Given the description of an element on the screen output the (x, y) to click on. 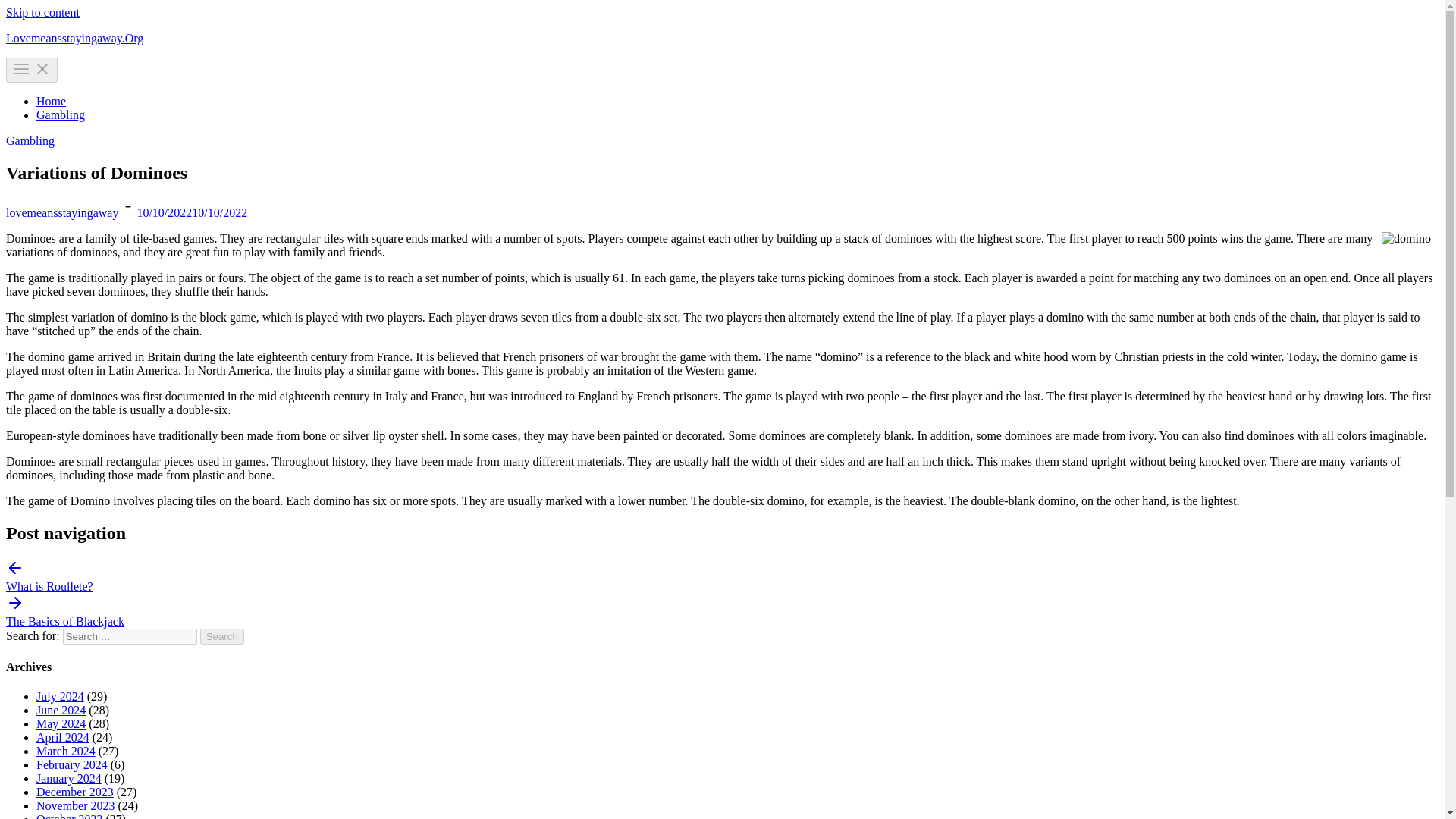
June 2024 (60, 709)
January 2024 (68, 778)
March 2024 (66, 750)
Gambling (60, 114)
July 2024 (60, 696)
Skip to content (42, 11)
December 2023 (74, 791)
Search (222, 636)
October 2023 (69, 816)
Lovemeansstayingaway.Org (73, 38)
Gambling (30, 140)
February 2024 (71, 764)
April 2024 (62, 737)
November 2023 (75, 805)
lovemeansstayingaway (61, 212)
